Given the description of an element on the screen output the (x, y) to click on. 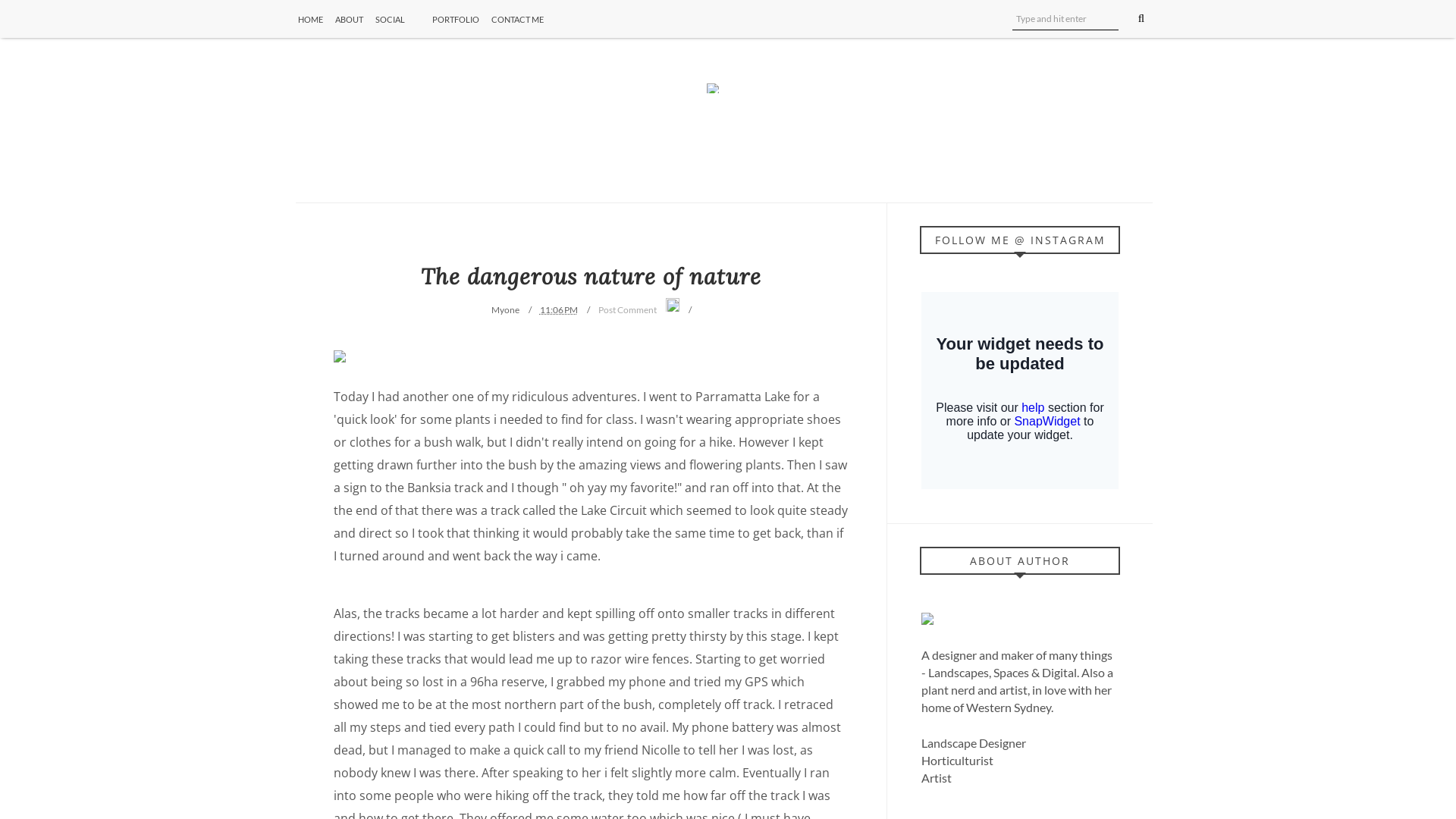
Edit Post Element type: hover (672, 306)
CONTACT ME Element type: text (517, 19)
PORTFOLIO Element type: text (455, 19)
SOCIAL Element type: text (397, 19)
Post Comment Element type: text (626, 309)
HOME Element type: text (310, 19)
ABOUT Element type: text (349, 19)
